Given the description of an element on the screen output the (x, y) to click on. 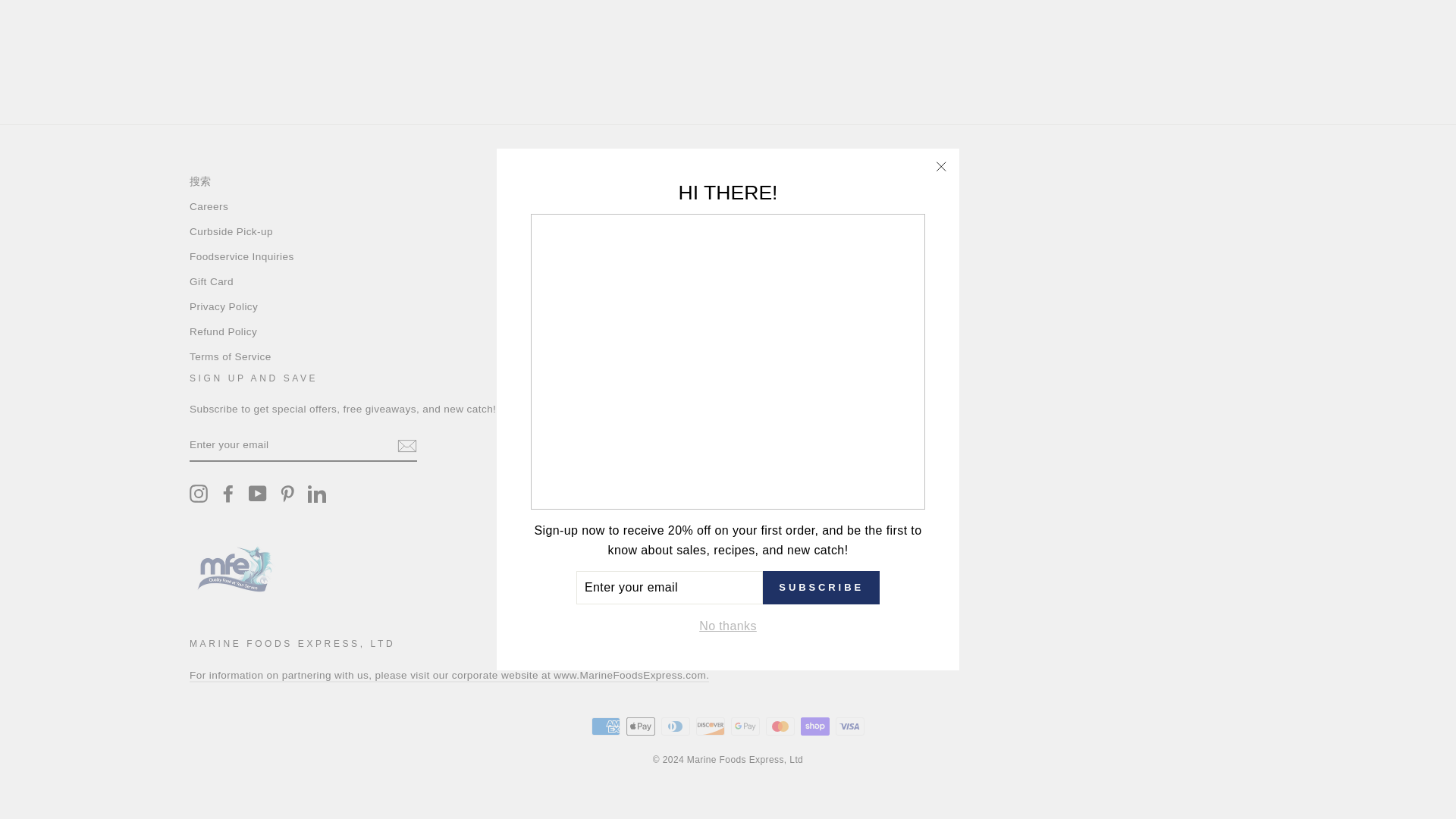
American Express (605, 726)
Apple Pay (640, 726)
Shop Pay (814, 726)
Diners Club (675, 726)
Visa (849, 726)
Google Pay (745, 726)
Mastercard (779, 726)
Discover (710, 726)
